Given the description of an element on the screen output the (x, y) to click on. 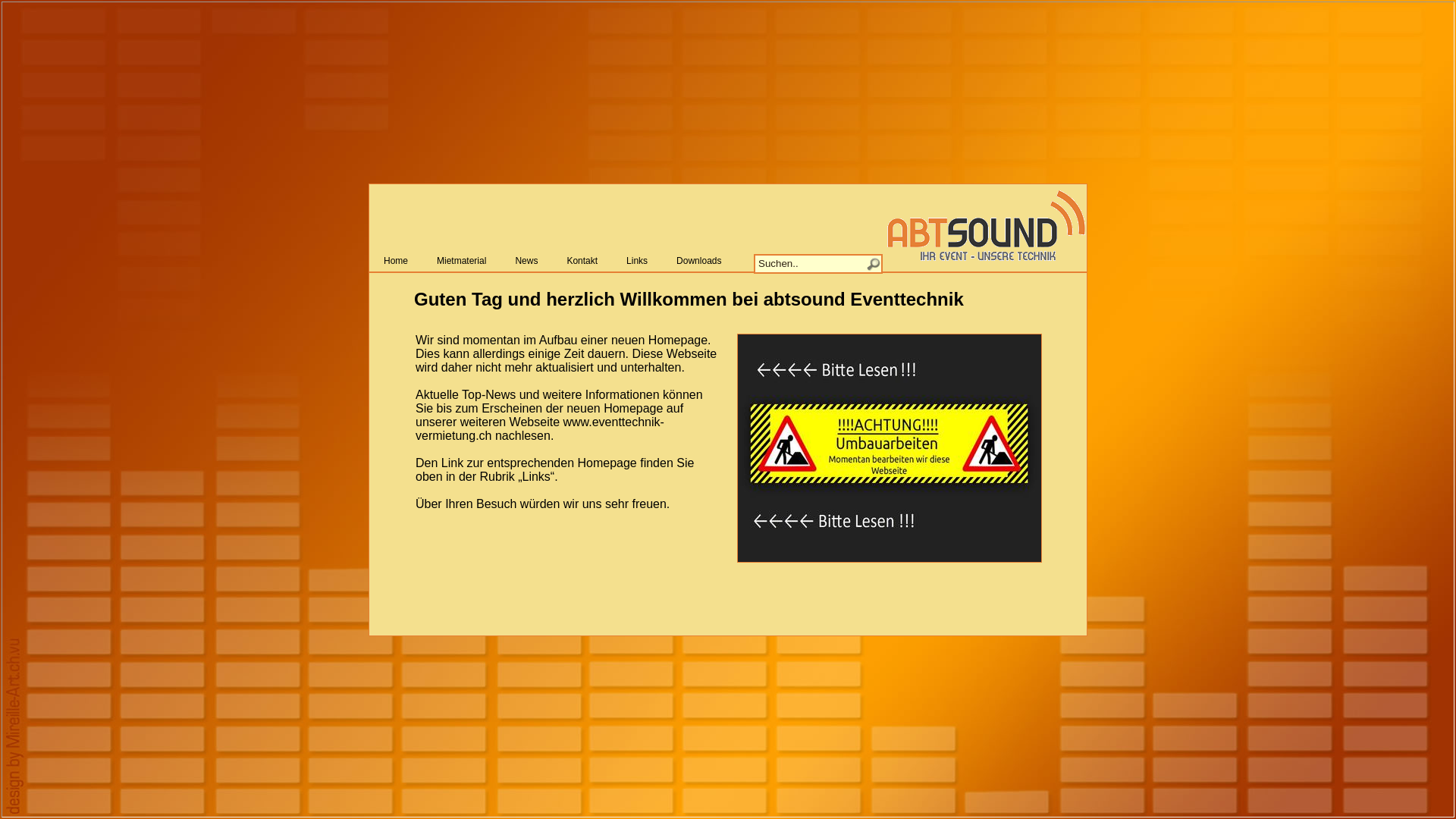
Suchen.. Element type: text (817, 263)
Home Element type: text (395, 260)
Kontakt Element type: text (581, 260)
Mietmaterial Element type: text (461, 260)
Downloads Element type: text (698, 260)
News Element type: text (526, 260)
Links Element type: text (636, 260)
